Given the description of an element on the screen output the (x, y) to click on. 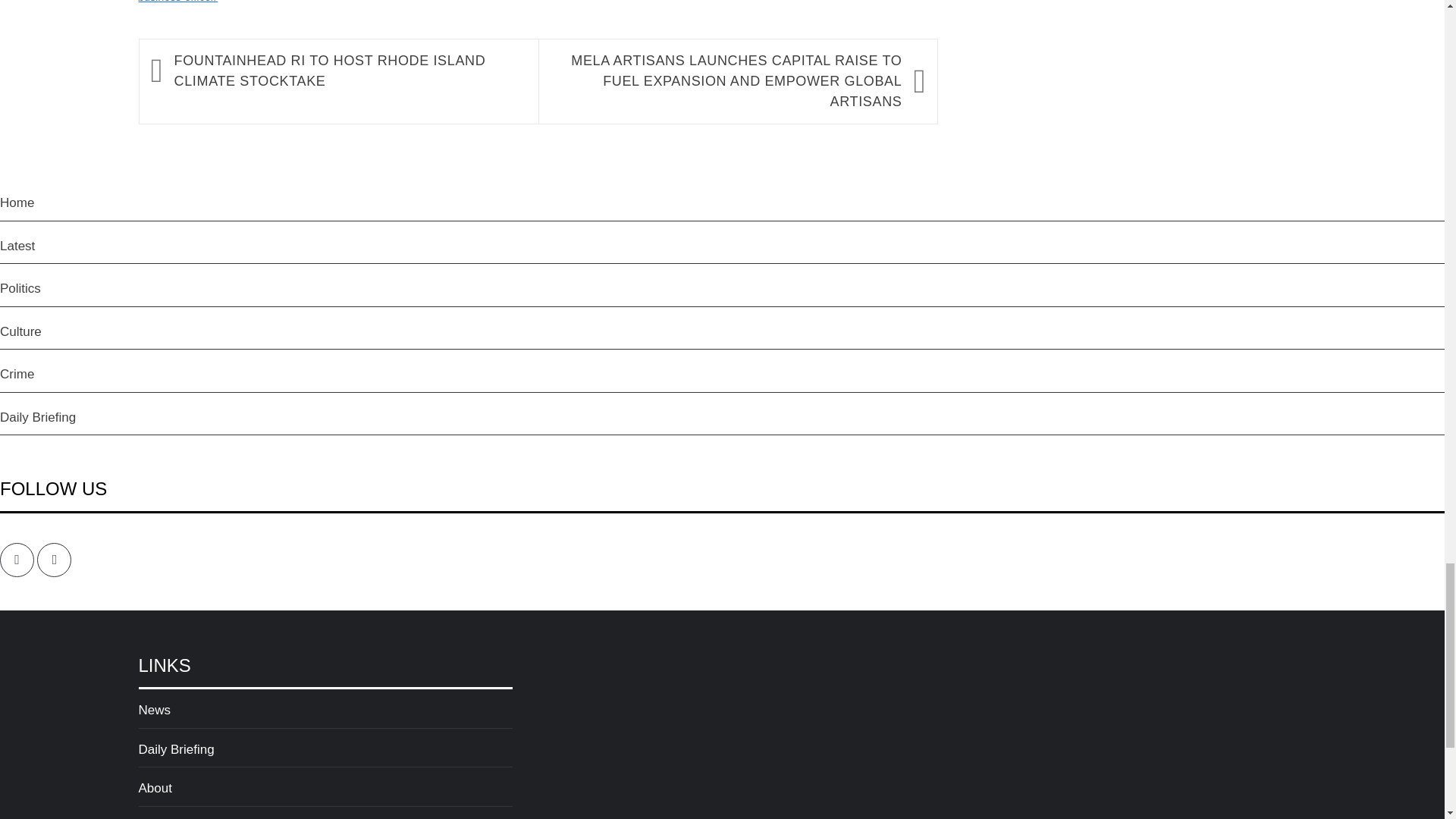
Twitter (54, 559)
News (325, 714)
Facebook (16, 559)
Daily Briefing (325, 754)
FOUNTAINHEAD RI TO HOST RHODE ISLAND CLIMATE STOCKTAKE (348, 70)
